Given the description of an element on the screen output the (x, y) to click on. 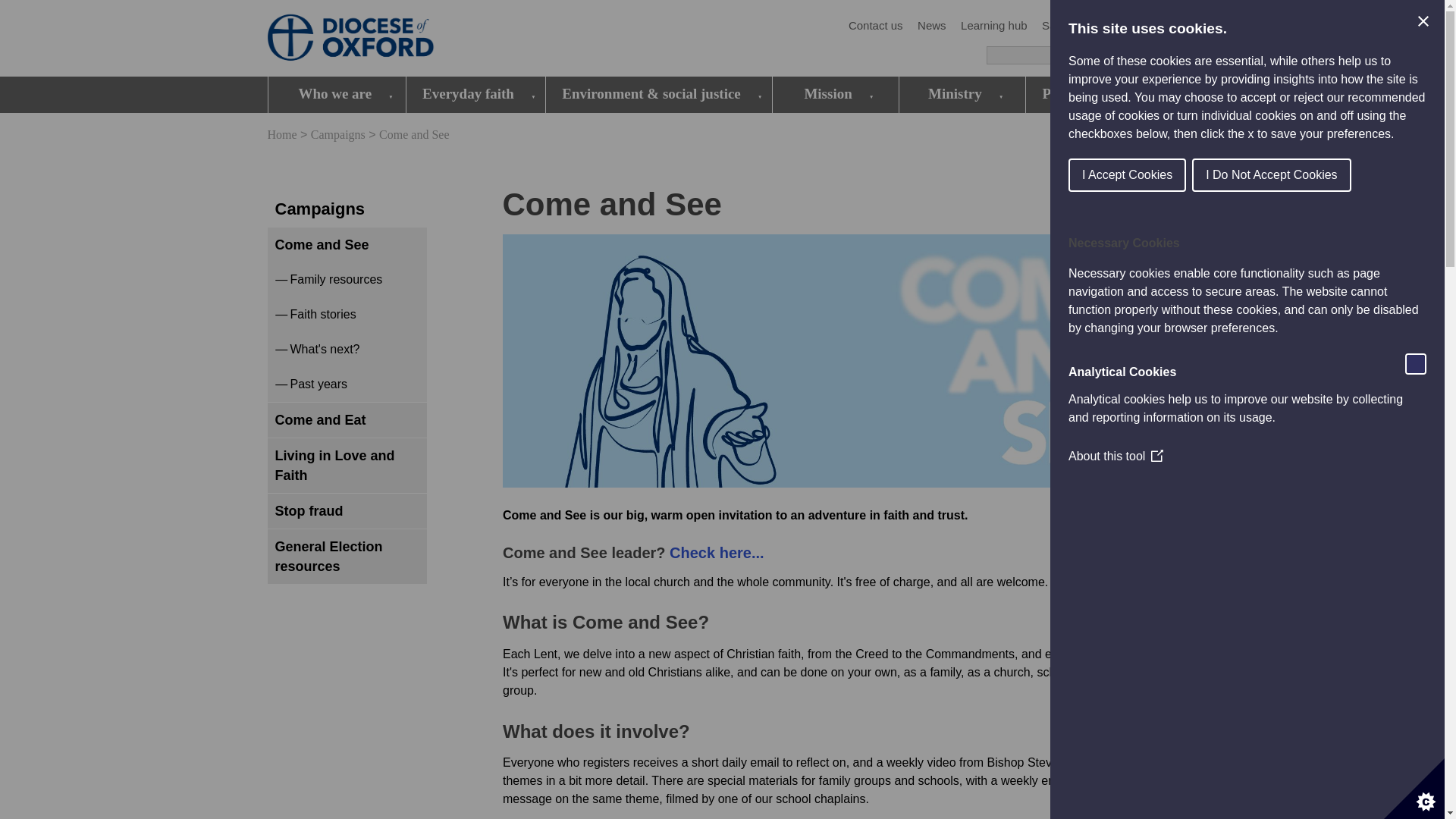
Safeguarding (1075, 25)
Diocese of Oxford Logo (376, 39)
I Accept Cookies (1360, 174)
News (931, 25)
Contact us (875, 25)
Education (1149, 25)
Learning hub (993, 25)
